Given the description of an element on the screen output the (x, y) to click on. 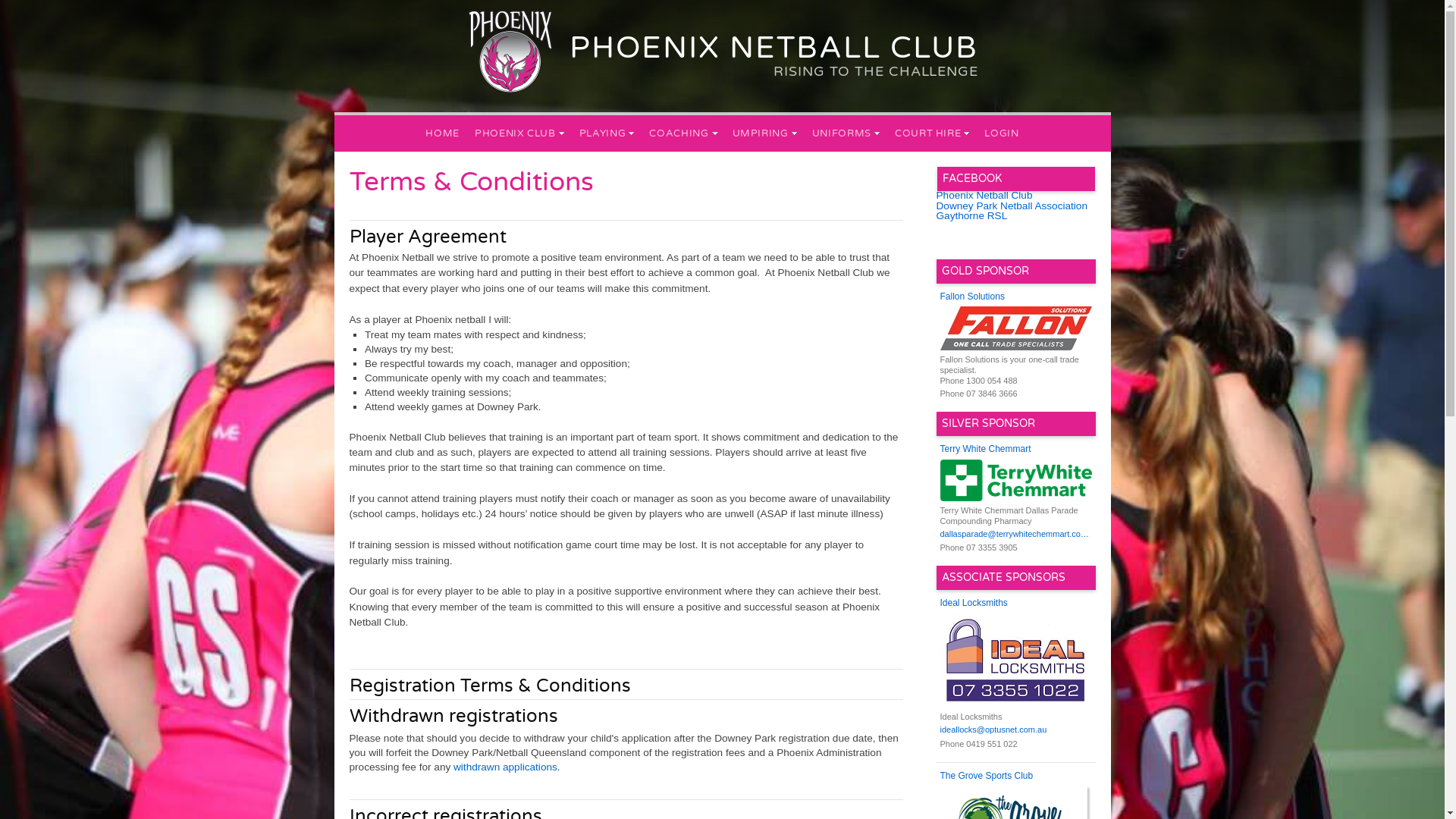
Gaythorne RSL Element type: text (971, 215)
COACHING Element type: text (682, 133)
Downey Park Netball Association Element type: text (1010, 205)
UNIFORMS Element type: text (845, 133)
HOME Element type: text (442, 133)
 withdrawn applications Element type: text (503, 766)
Ideal Locksmiths Element type: text (1016, 603)
Terry White Chemmart Dallas Parade Compounding Pharmacy Element type: text (1016, 492)
PLAYING Element type: text (606, 133)
COURT HIRE Element type: text (932, 133)
Phoenix Netball Club Element type: text (983, 194)
The Grove Sports Club Element type: text (1016, 776)
UMPIRING Element type: text (764, 133)
dallasparade@terrywhitechemmart.com.au Element type: text (1016, 534)
Fallon Solutions Element type: text (1016, 297)
LOGIN Element type: text (1001, 133)
Terry White Chemmart Element type: text (1016, 449)
ideallocks@optusnet.com.au Element type: text (1016, 730)
PHOENIX NETBALL CLUB
RISING TO THE CHALLENGE Element type: text (773, 47)
PHOENIX CLUB Element type: text (519, 133)
Ideal Locksmiths Element type: text (1016, 666)
